Given the description of an element on the screen output the (x, y) to click on. 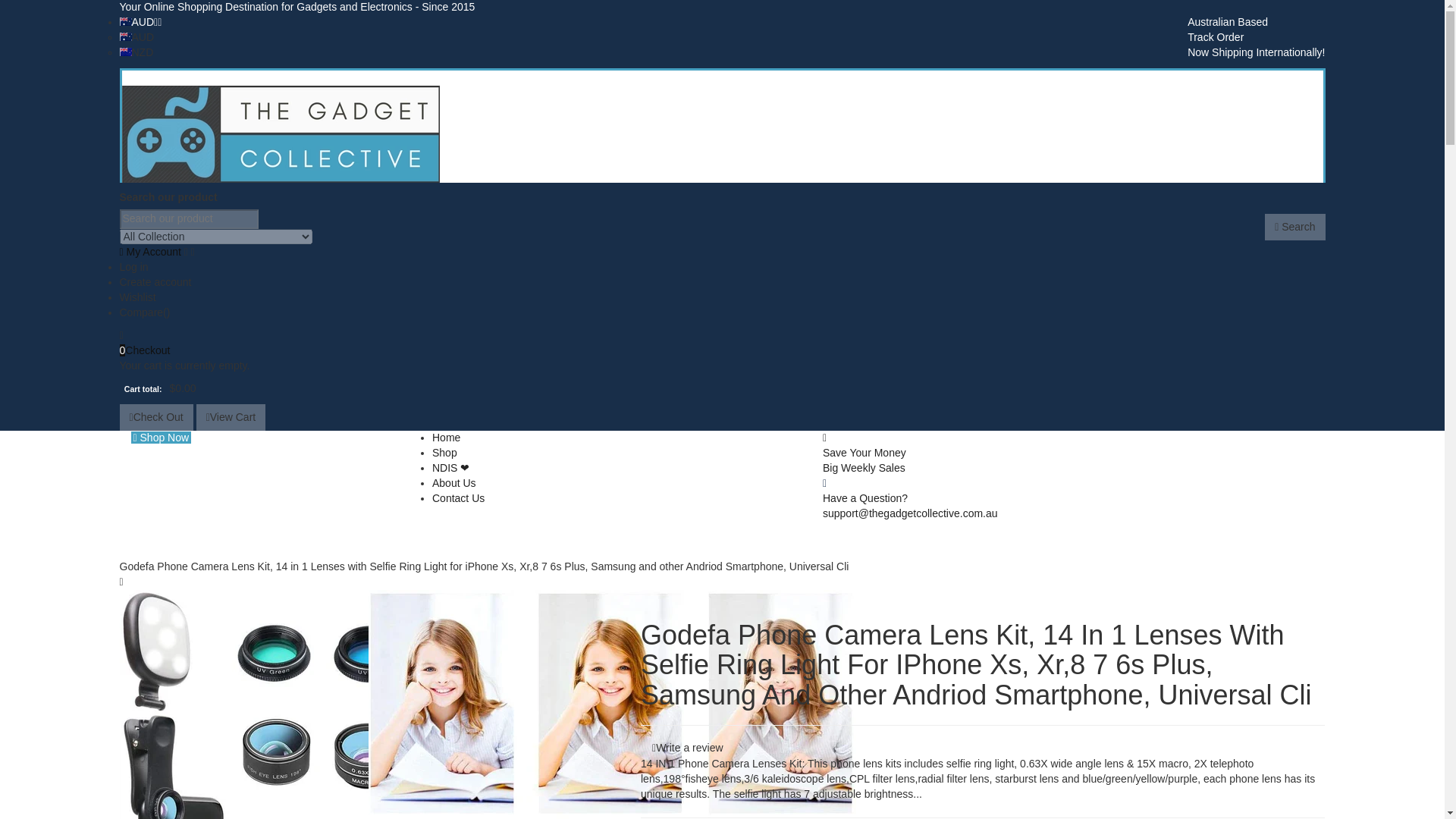
AUD (140, 21)
AUD (136, 37)
NZD (136, 51)
Search (1294, 226)
Your Cart (721, 350)
Log in (133, 266)
Create account (155, 282)
Log in (133, 266)
Checkout (721, 343)
My Account (157, 251)
Wishlist (721, 297)
0Checkout (721, 343)
The Gadget Collective (279, 133)
Track Order (1215, 37)
Check Out (156, 417)
